Given the description of an element on the screen output the (x, y) to click on. 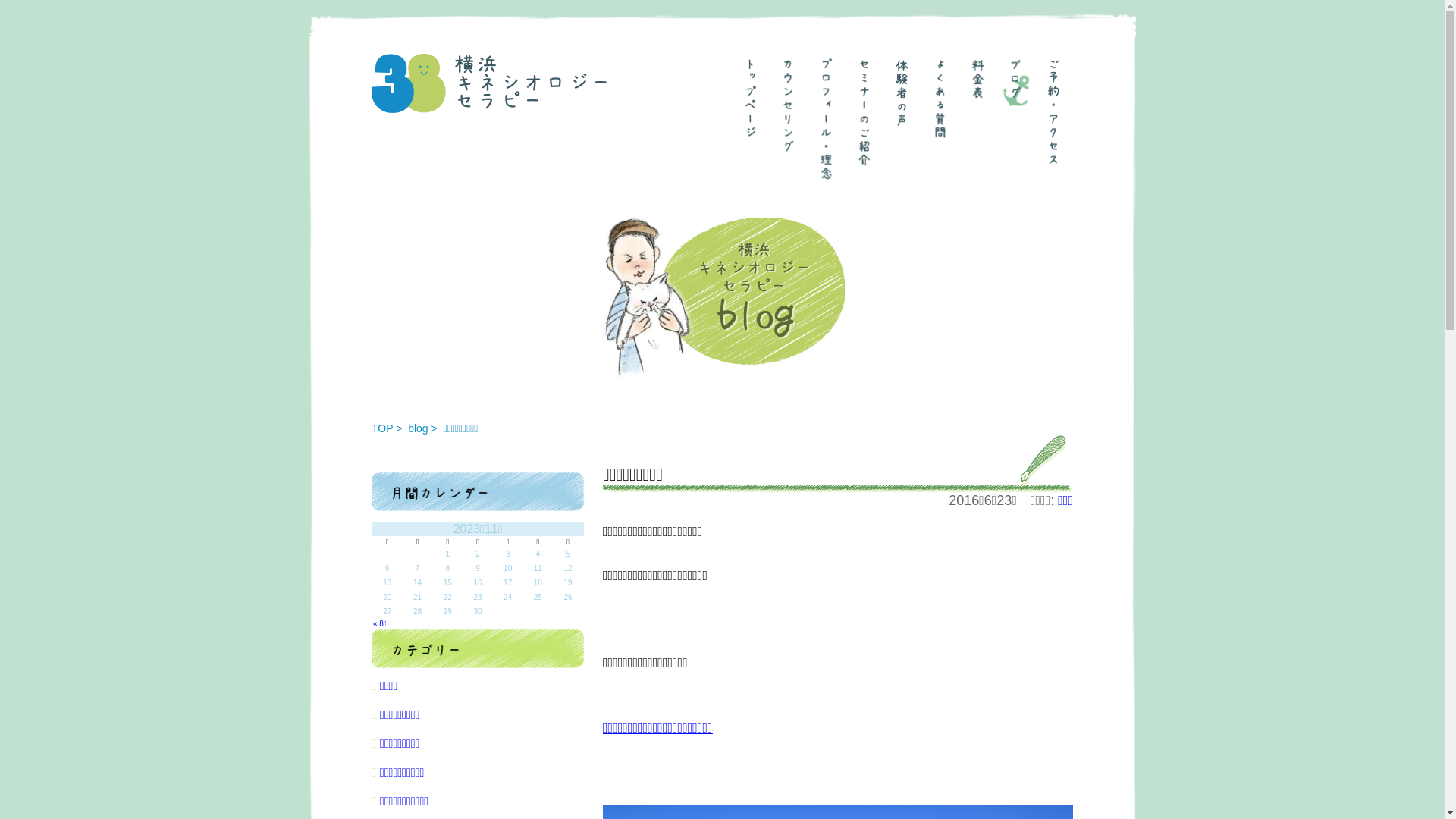
blog Element type: text (417, 428)
TOP Element type: text (381, 428)
